Given the description of an element on the screen output the (x, y) to click on. 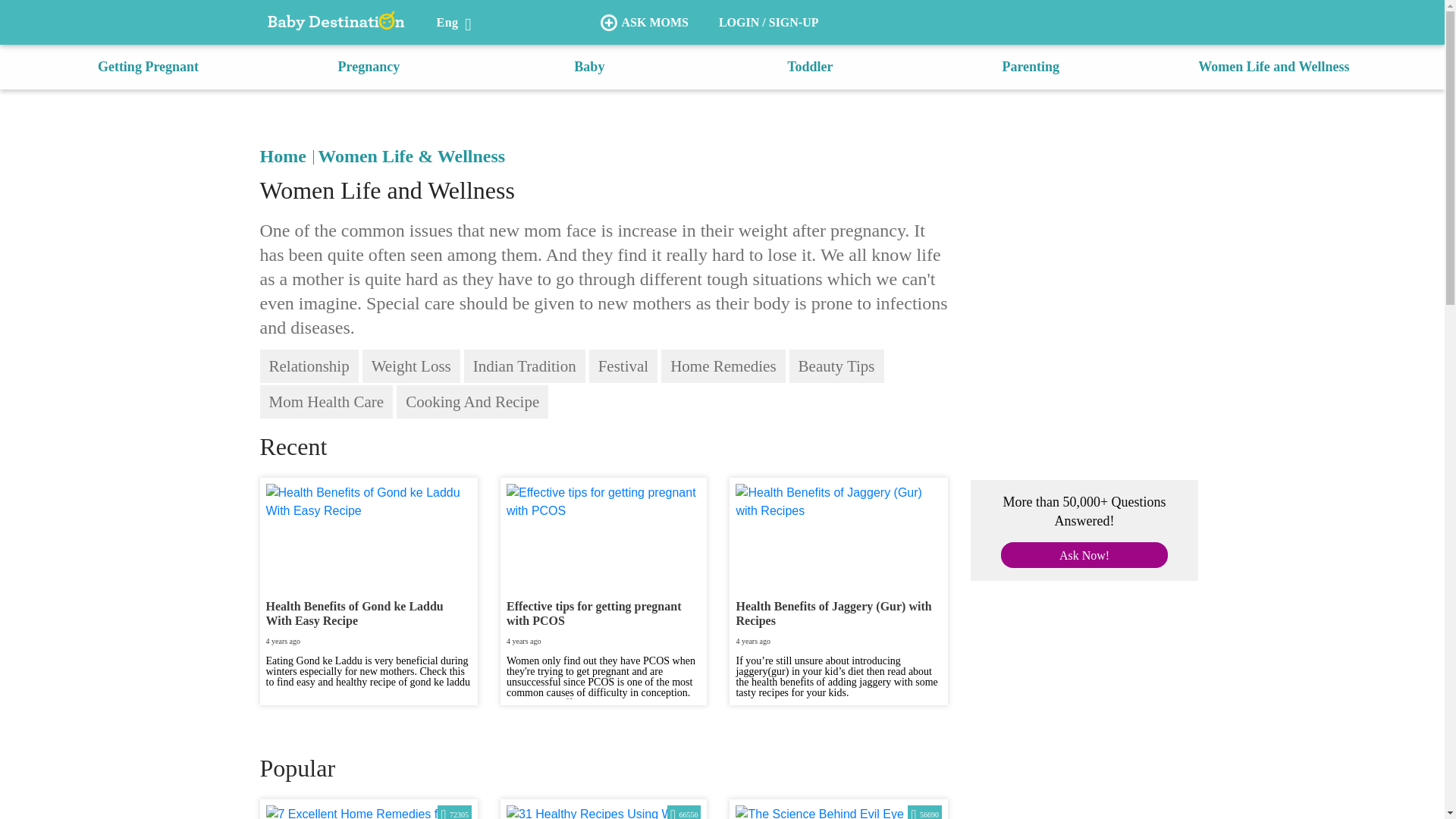
ASK MOMS (644, 22)
Getting Pregnant (147, 66)
Pregnancy (368, 66)
Toddler (810, 66)
Baby (588, 66)
